Given the description of an element on the screen output the (x, y) to click on. 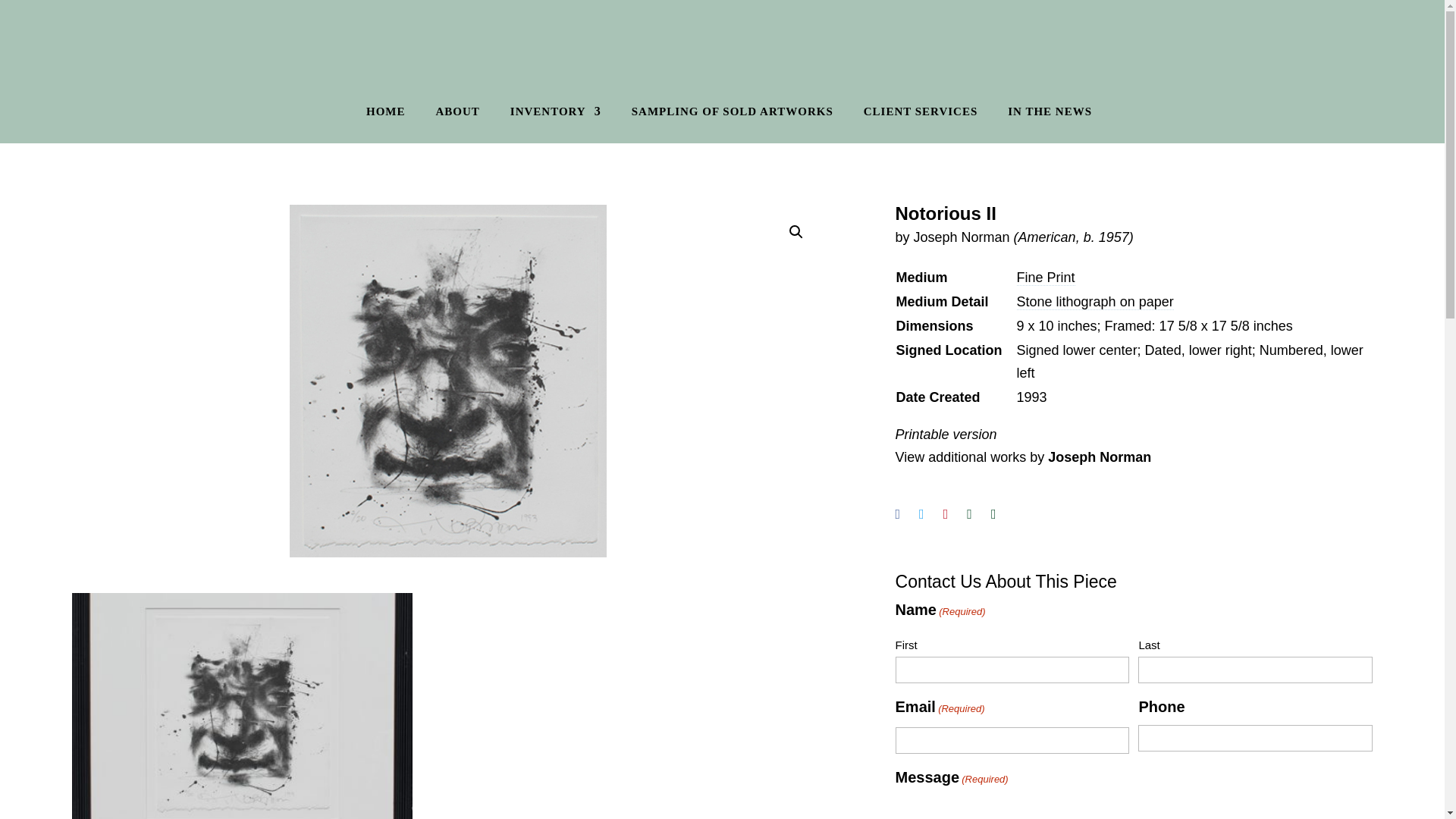
Stone lithograph on paper (1094, 302)
Printable version (946, 434)
HOME (386, 114)
ABOUT (457, 114)
Fine Print (1045, 277)
SAMPLING OF SOLD ARTWORKS (731, 114)
View additional works by Joseph Norman (1023, 457)
IN THE NEWS (1049, 114)
INVENTORY (556, 114)
Joseph Norman Notorious II UF (448, 380)
